Given the description of an element on the screen output the (x, y) to click on. 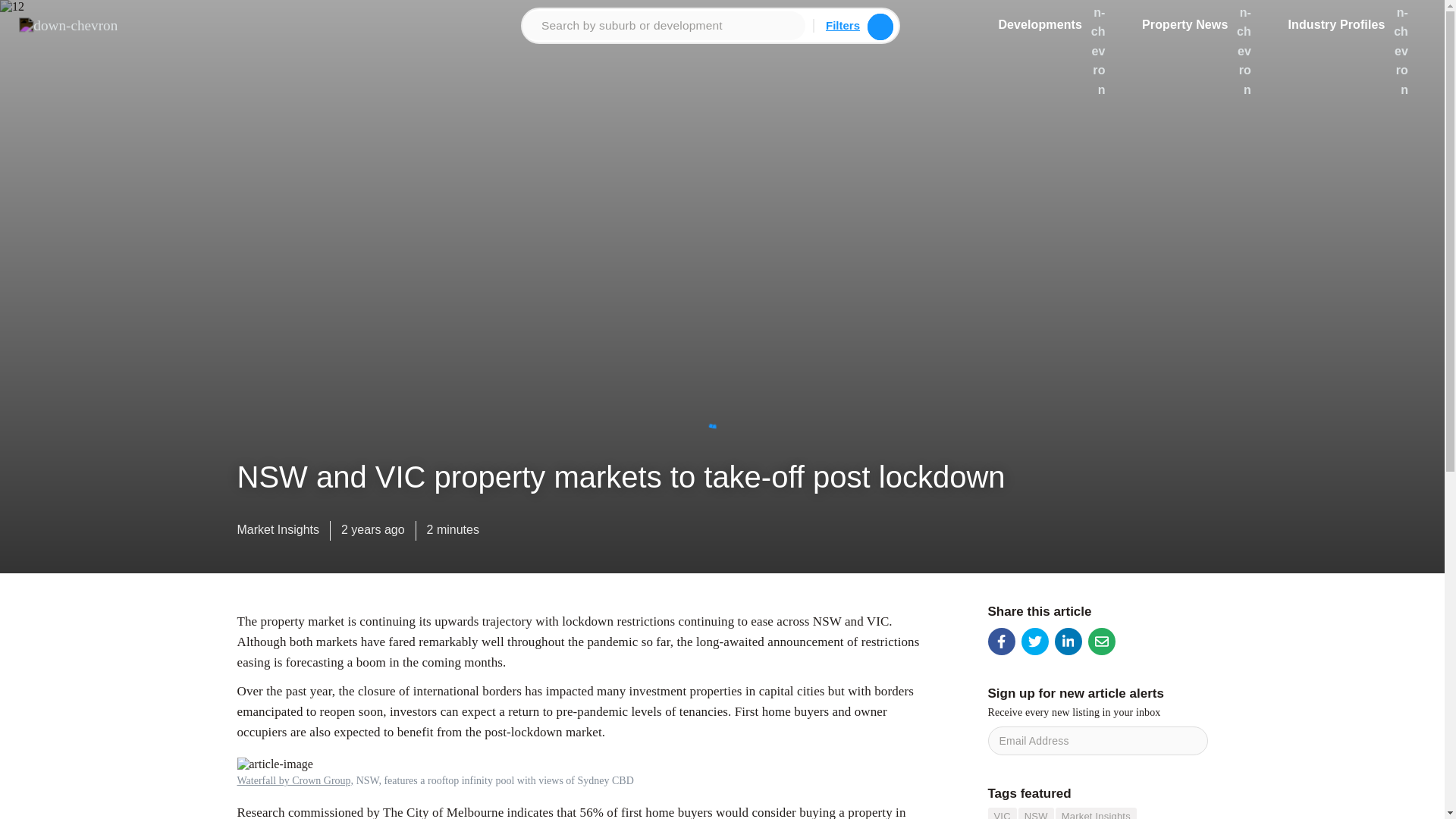
VIC (1001, 813)
Filters (842, 24)
NSW (1035, 813)
Market Insights (276, 532)
Market Insights (1096, 813)
Waterfall by Crown Group, (294, 780)
